Given the description of an element on the screen output the (x, y) to click on. 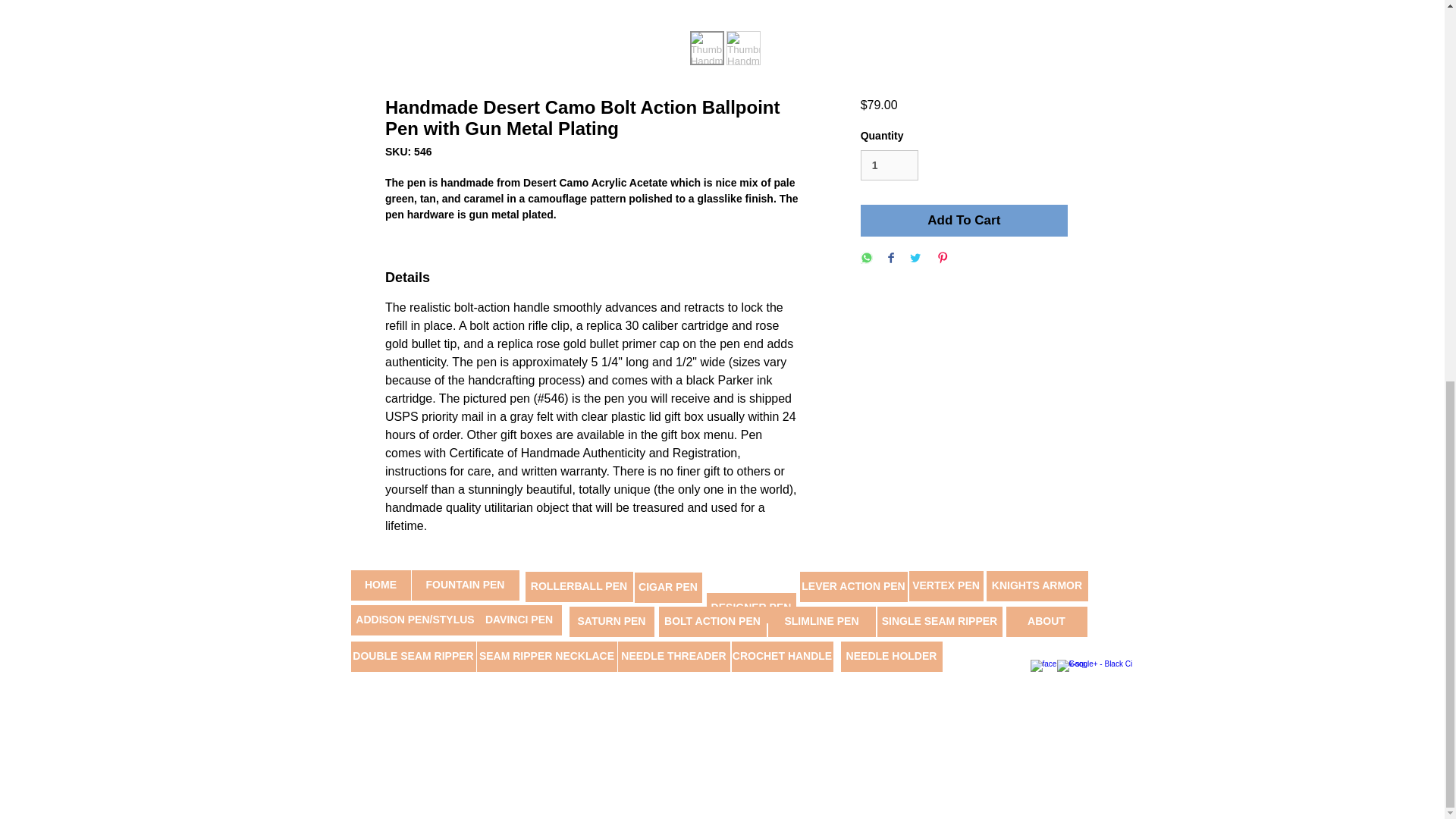
ROLLERBALL PEN (577, 586)
KNIGHTS ARMOR (1036, 585)
CIGAR PEN (667, 587)
Add To Cart (963, 220)
DESIGNER PEN (751, 607)
VERTEX PEN (945, 585)
LEVER ACTION PEN (853, 586)
1 (889, 164)
FOUNTAIN PEN (464, 585)
